Given the description of an element on the screen output the (x, y) to click on. 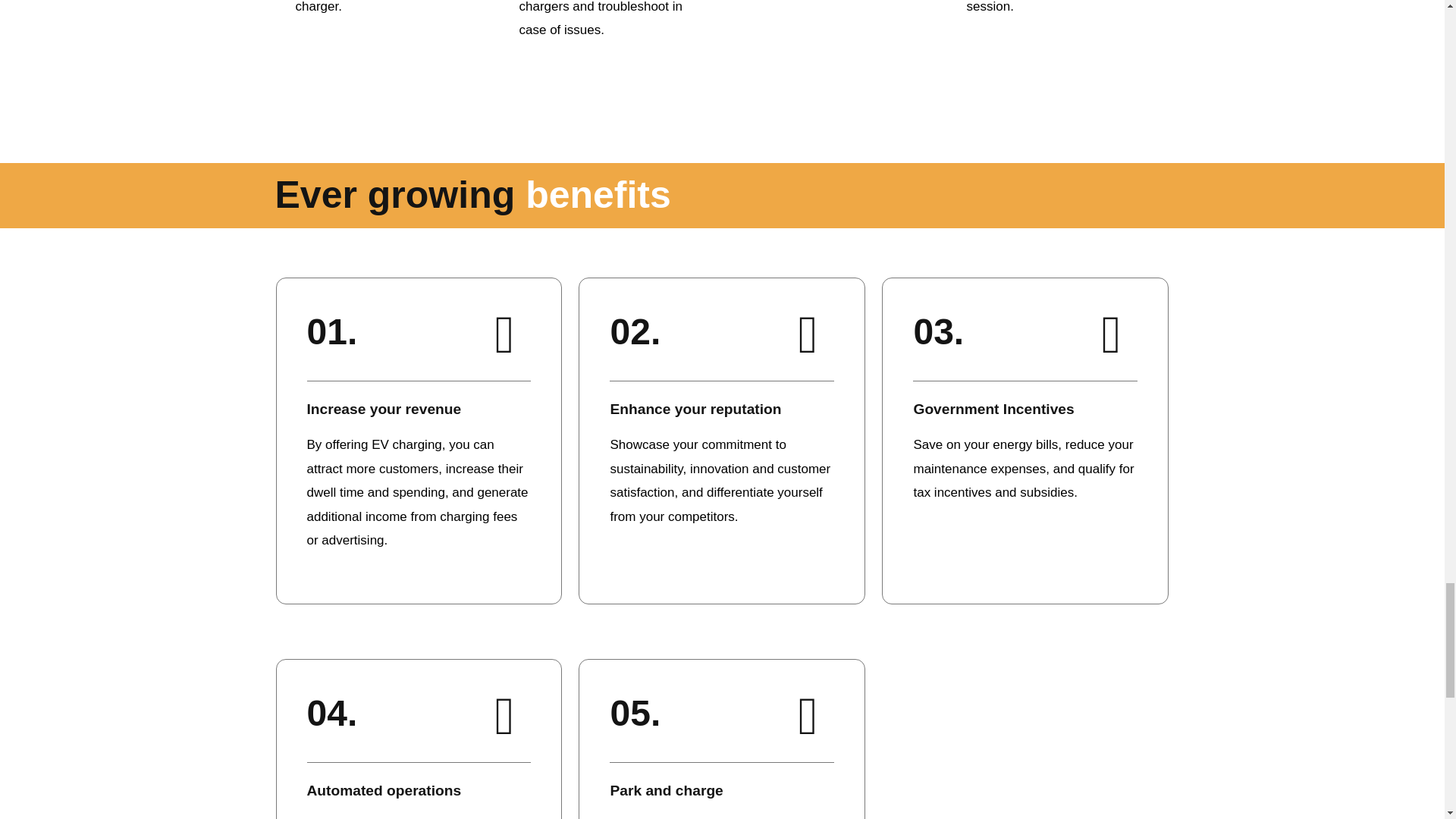
Automated operations (383, 790)
Increase your revenue (383, 408)
Park and charge (666, 790)
Government Incentives (993, 408)
Enhance your reputation (695, 408)
